Given the description of an element on the screen output the (x, y) to click on. 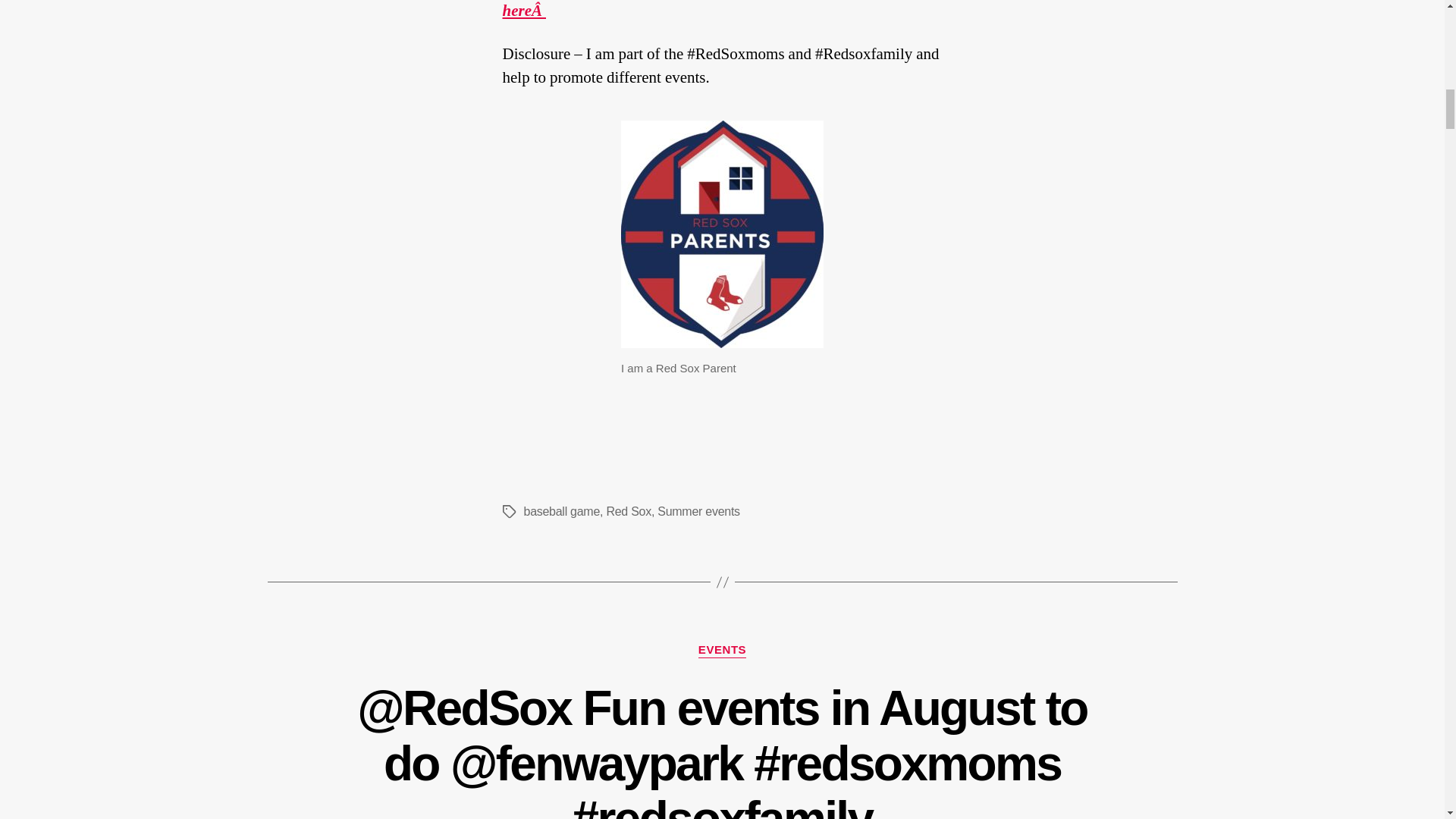
baseball game (560, 511)
Red Sox (627, 511)
Summer events (698, 511)
EVENTS (721, 650)
